Given the description of an element on the screen output the (x, y) to click on. 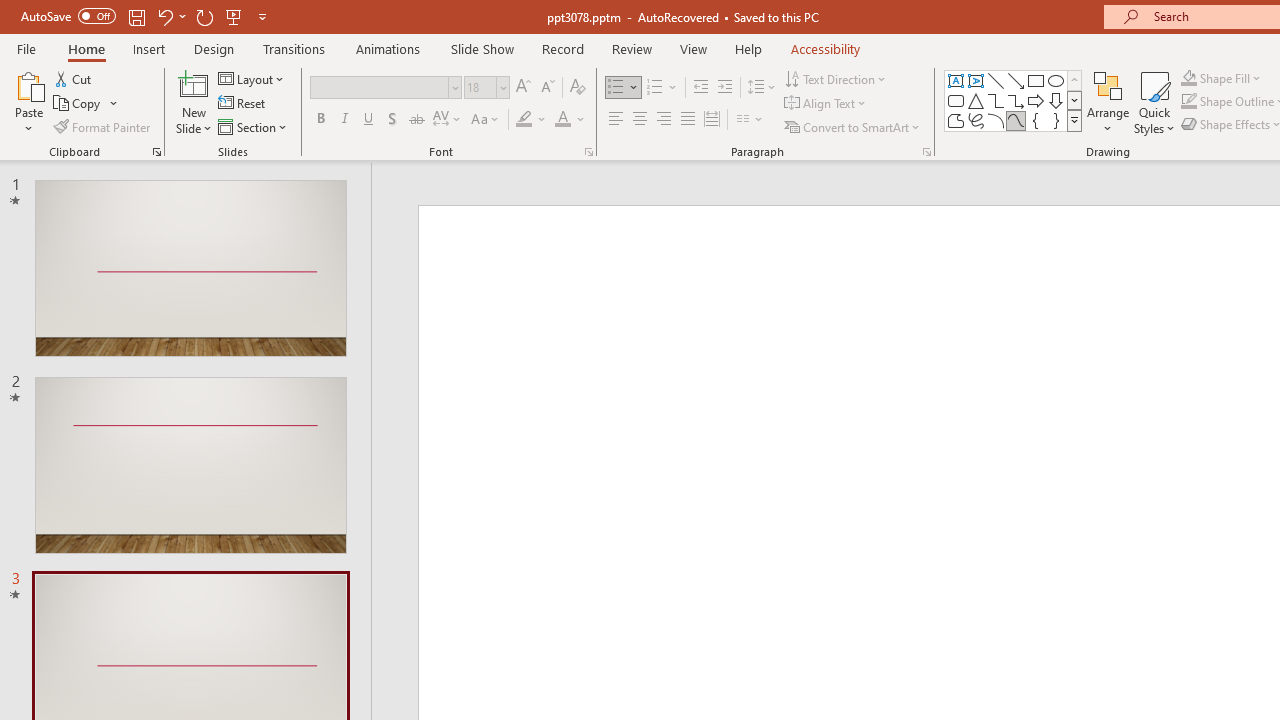
Numbering (654, 87)
Quick Styles (1154, 102)
Decrease Font Size (547, 87)
Change Case (486, 119)
Paste (28, 102)
New Slide (193, 84)
Home (86, 48)
Font Color Red (562, 119)
Layout (252, 78)
Design (214, 48)
Cut (73, 78)
Accessibility (825, 48)
Align Left (616, 119)
Arrow: Right (1035, 100)
